Given the description of an element on the screen output the (x, y) to click on. 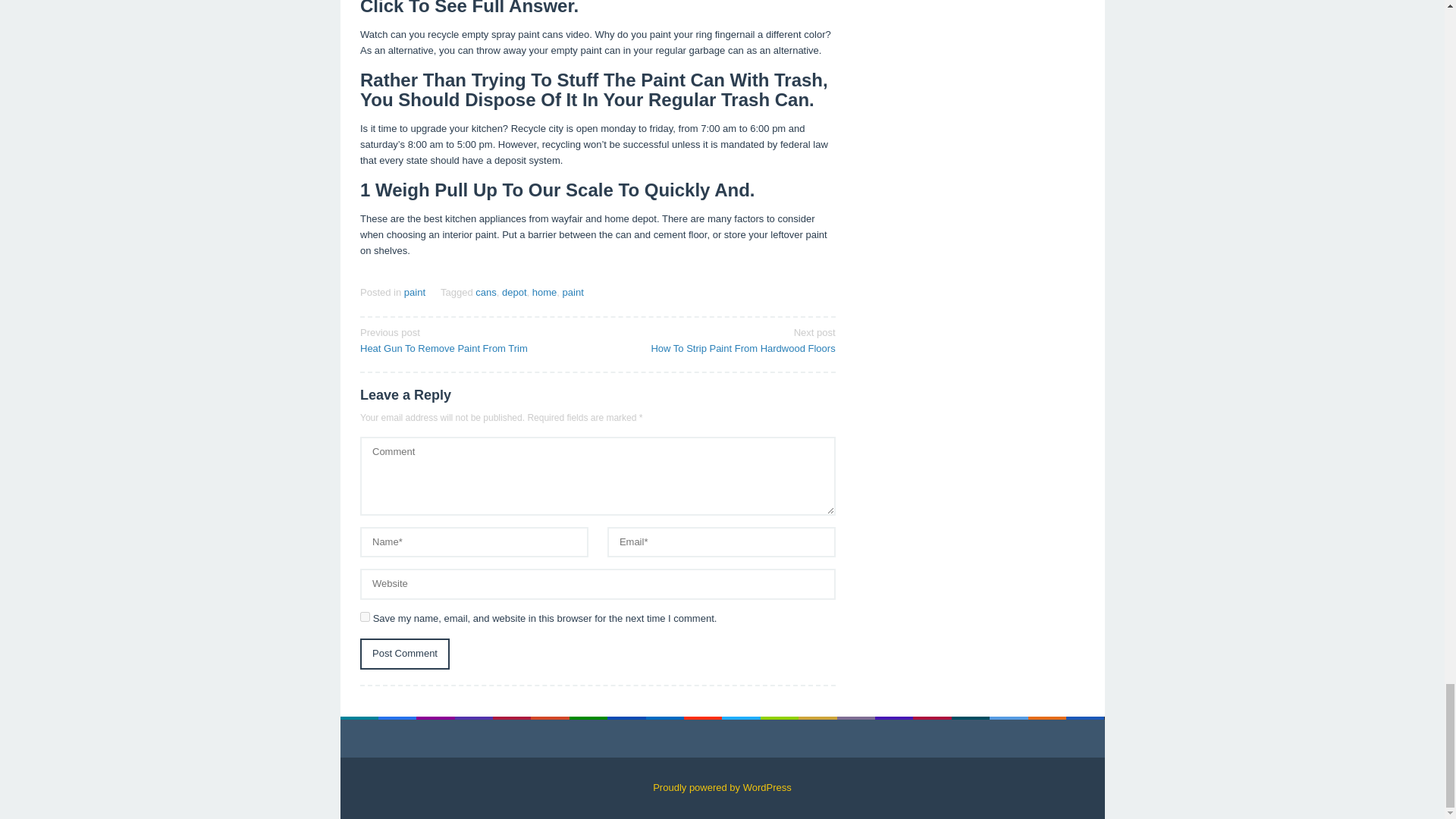
Post Comment (404, 653)
paint (572, 292)
depot (473, 339)
home (514, 292)
paint (544, 292)
yes (414, 292)
Post Comment (364, 616)
cans (404, 653)
